Given the description of an element on the screen output the (x, y) to click on. 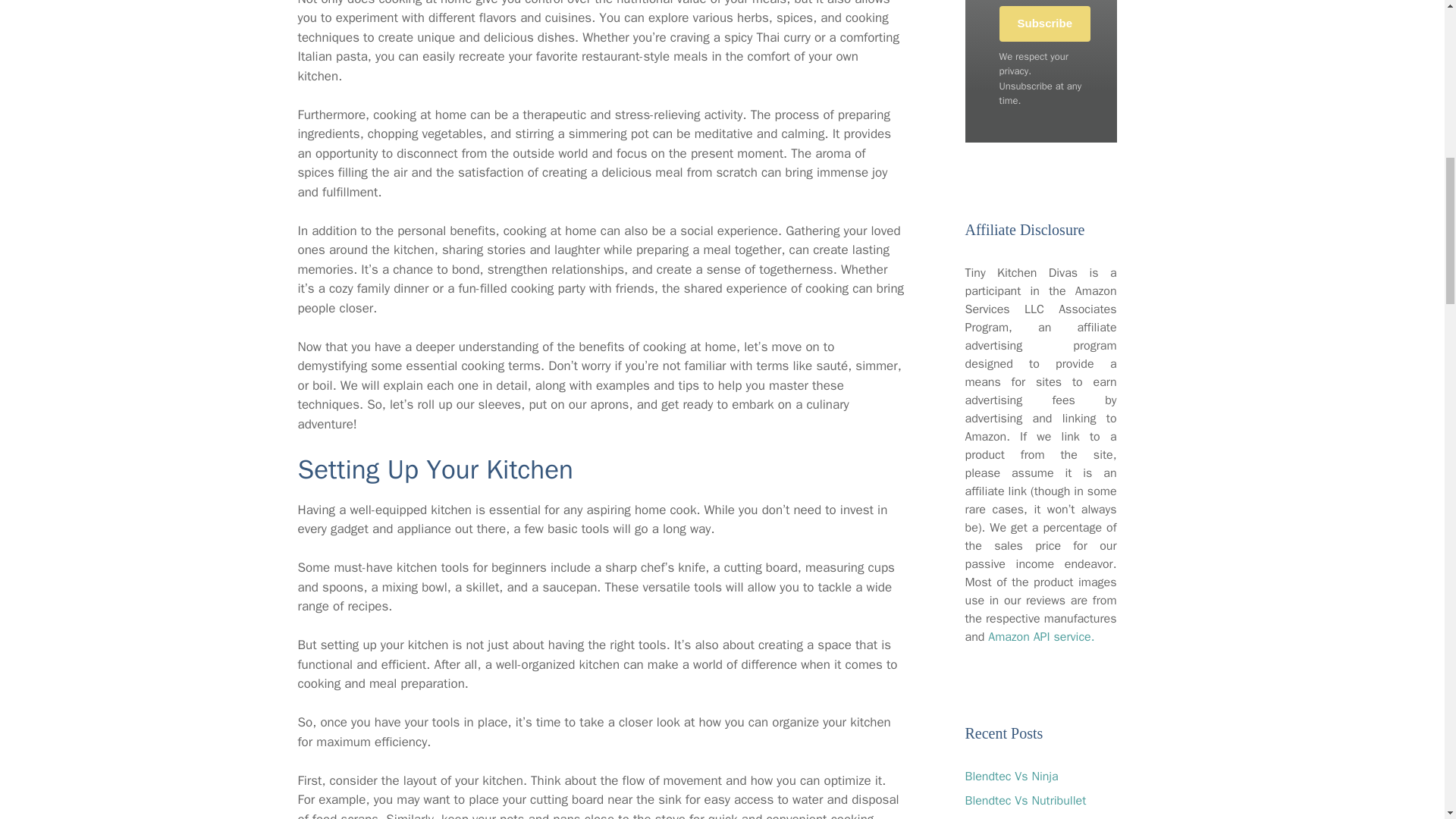
Amazon API service. (1041, 636)
Blendtec Vs Nutribullet (1024, 800)
Subscribe (1044, 23)
Blendtec Vs Ninja (1010, 776)
Scroll back to top (1406, 720)
